Given the description of an element on the screen output the (x, y) to click on. 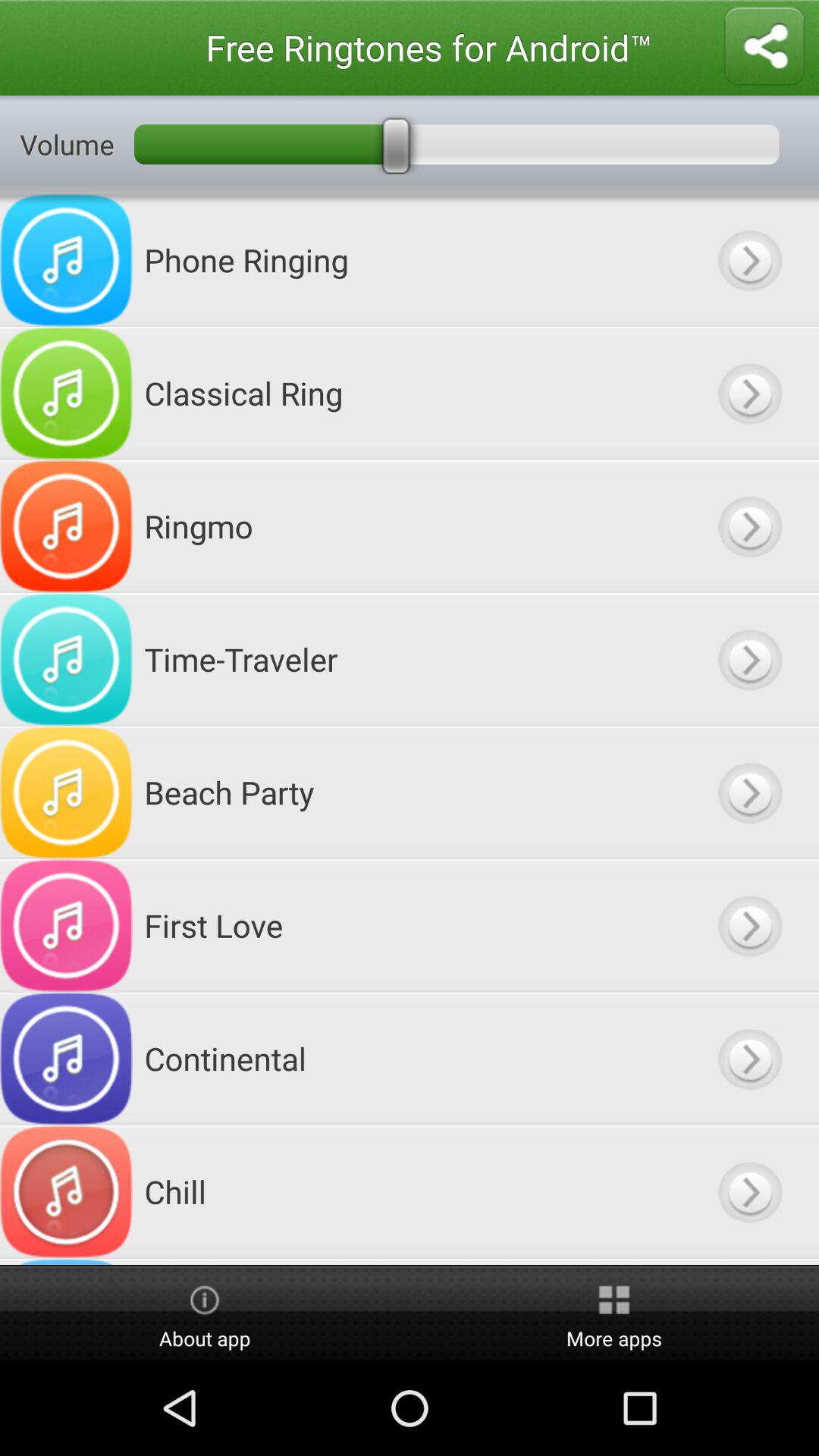
open 'first love ringtone type (749, 925)
